Given the description of an element on the screen output the (x, y) to click on. 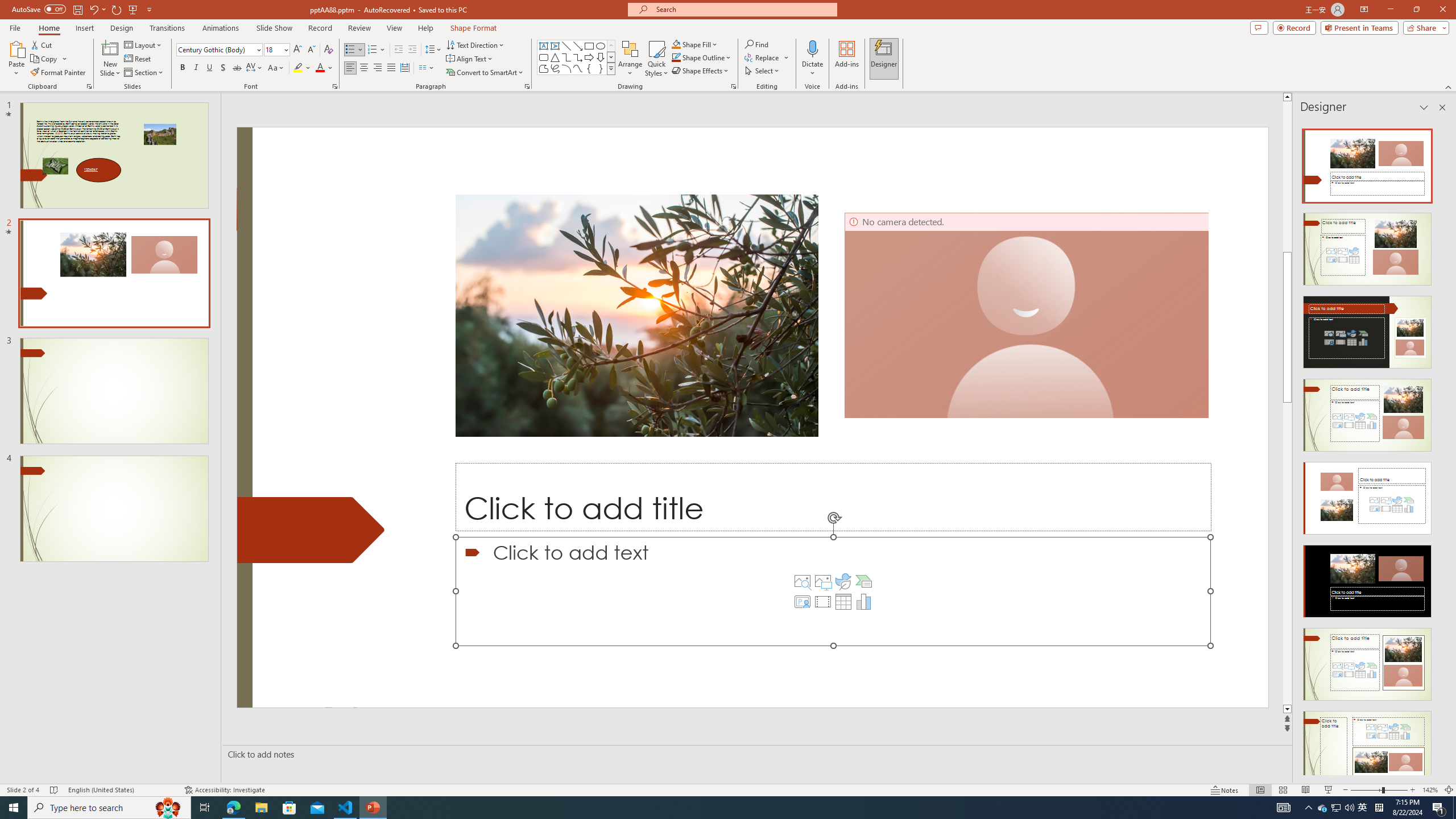
Center (363, 67)
Shape Outline Teal, Accent 1 (675, 56)
Pictures (822, 581)
Font... (334, 85)
Insert Table (843, 601)
Character Spacing (254, 67)
Dictate (812, 58)
Arrange (630, 58)
